Given the description of an element on the screen output the (x, y) to click on. 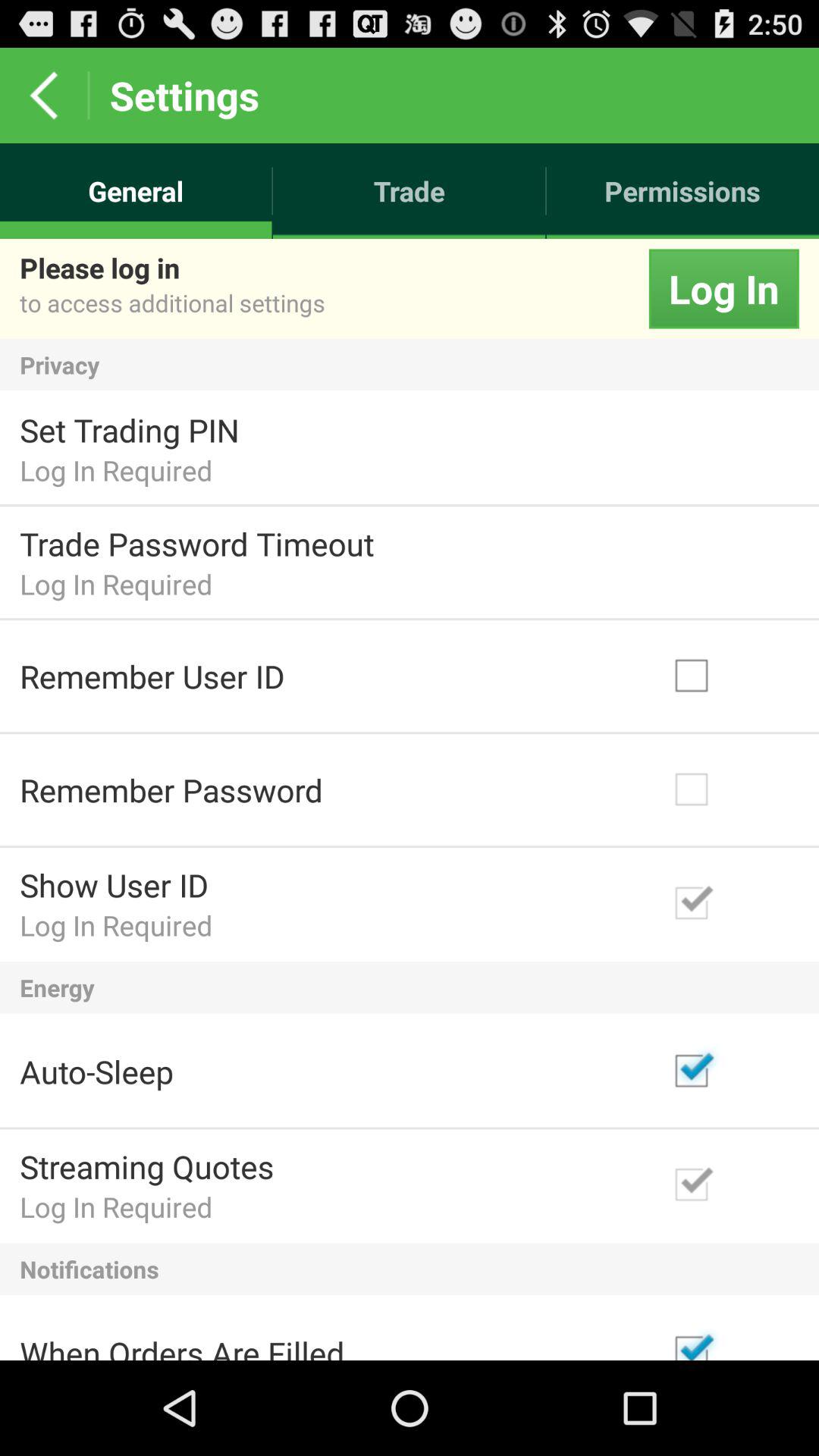
click the app below log in required icon (409, 987)
